Given the description of an element on the screen output the (x, y) to click on. 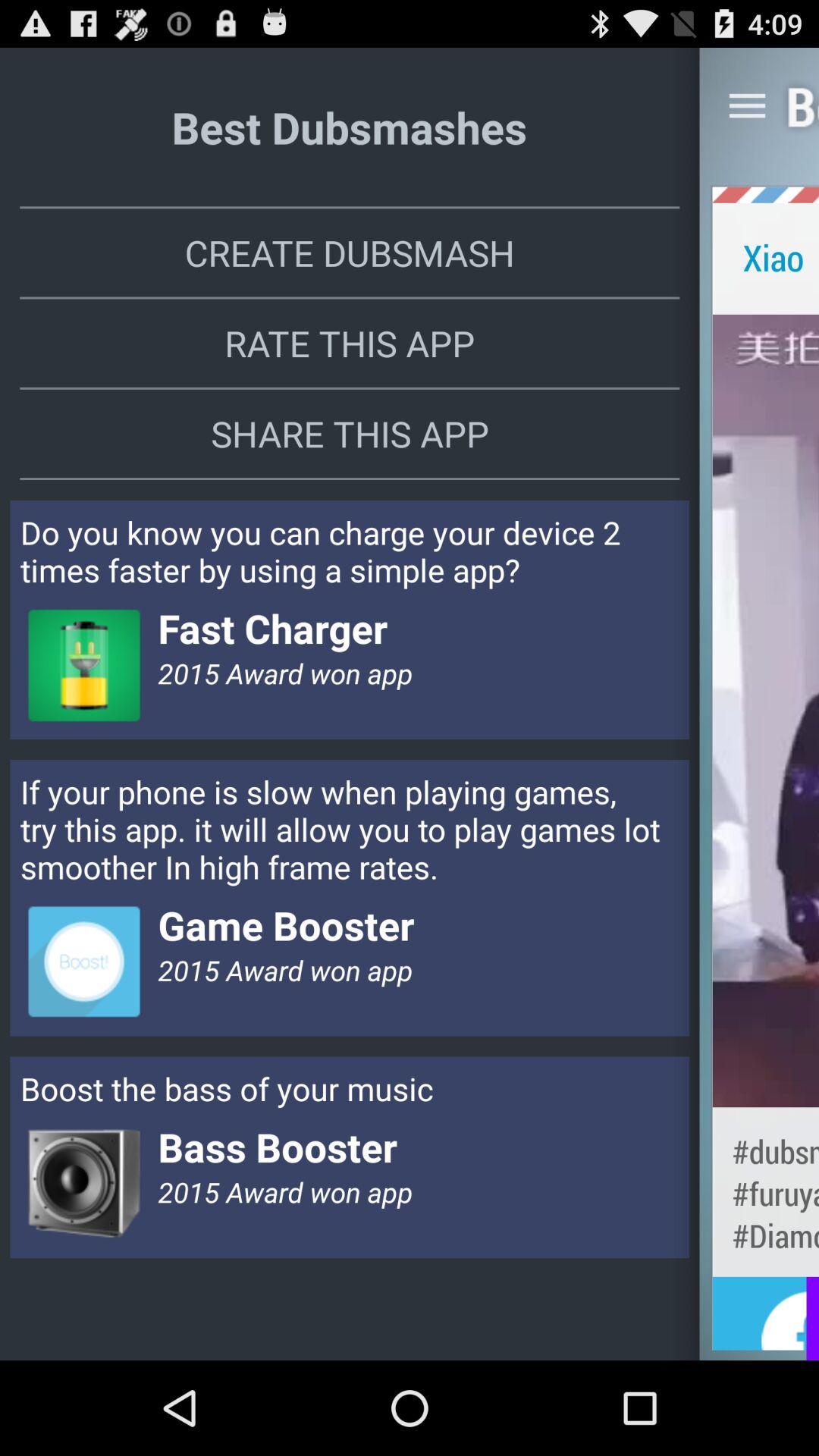
press item above the dubsmash spongebob spongebobsquarepants (765, 710)
